Given the description of an element on the screen output the (x, y) to click on. 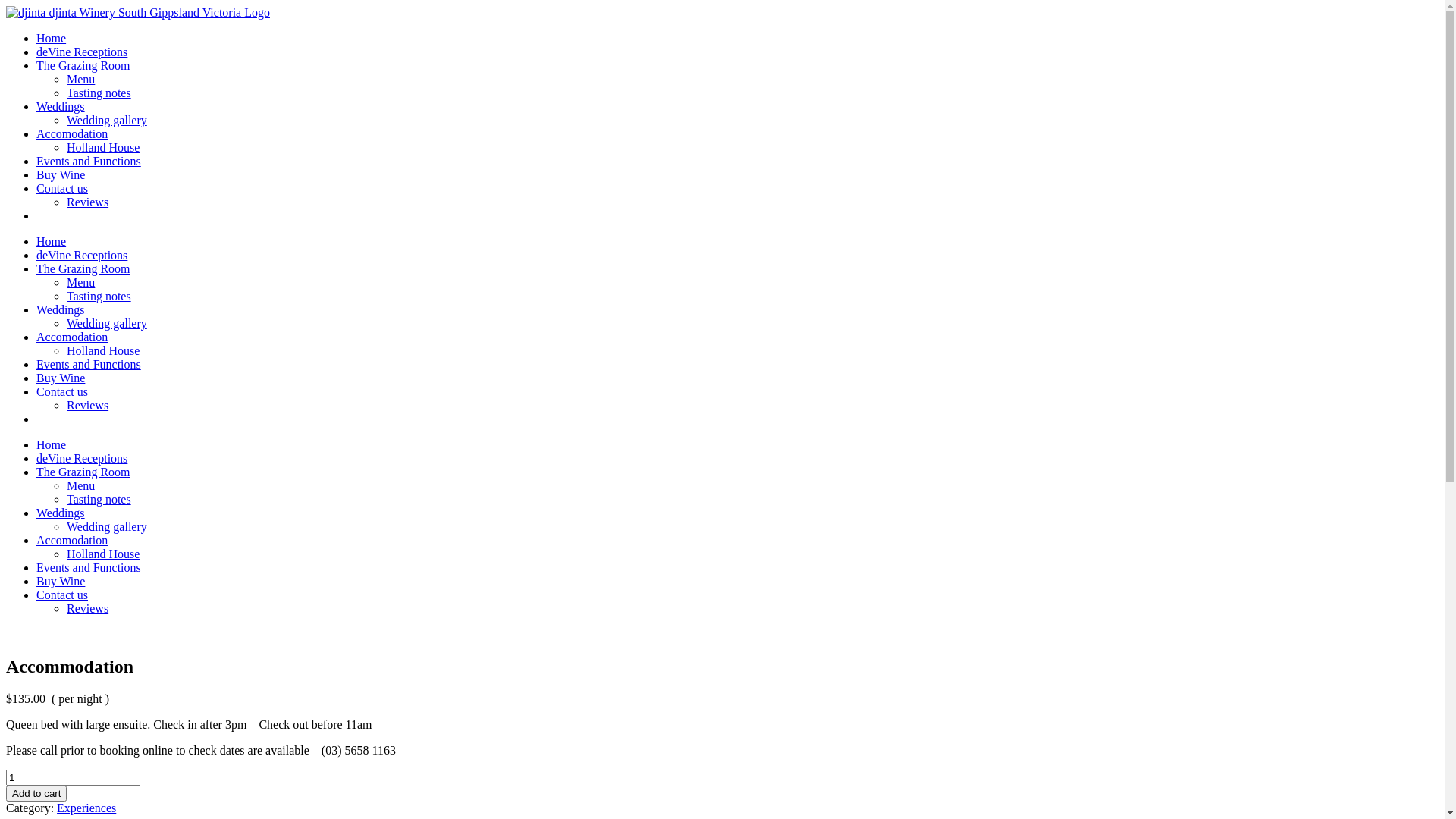
Weddings Element type: text (60, 106)
Menu Element type: text (80, 485)
Holland House Element type: text (102, 553)
Home Element type: text (50, 241)
Reviews Element type: text (87, 201)
Reviews Element type: text (87, 608)
Buy Wine Element type: text (60, 377)
The Grazing Room Element type: text (83, 268)
Qty Element type: hover (73, 777)
Events and Functions Element type: text (88, 160)
Contact us Element type: text (61, 391)
Events and Functions Element type: text (88, 363)
Events and Functions Element type: text (88, 567)
Menu Element type: text (80, 282)
The Grazing Room Element type: text (83, 471)
Wedding gallery Element type: text (106, 119)
Weddings Element type: text (60, 512)
Wedding gallery Element type: text (106, 322)
Buy Wine Element type: text (60, 580)
deVine Receptions Element type: text (81, 254)
Menu Element type: text (80, 78)
Accomodation Element type: text (71, 133)
Wedding gallery Element type: text (106, 526)
Contact us Element type: text (61, 594)
Accomodation Element type: text (71, 539)
Accomodation Element type: text (71, 336)
Weddings Element type: text (60, 309)
Tasting notes Element type: text (98, 295)
Experiences Element type: text (86, 807)
Tasting notes Element type: text (98, 498)
Holland House Element type: text (102, 147)
deVine Receptions Element type: text (81, 457)
The Grazing Room Element type: text (83, 65)
Home Element type: text (50, 37)
Tasting notes Element type: text (98, 92)
Contact us Element type: text (61, 188)
Holland House Element type: text (102, 350)
Reviews Element type: text (87, 404)
Add to cart Element type: text (36, 793)
Buy Wine Element type: text (60, 174)
Home Element type: text (50, 444)
deVine Receptions Element type: text (81, 51)
